Given the description of an element on the screen output the (x, y) to click on. 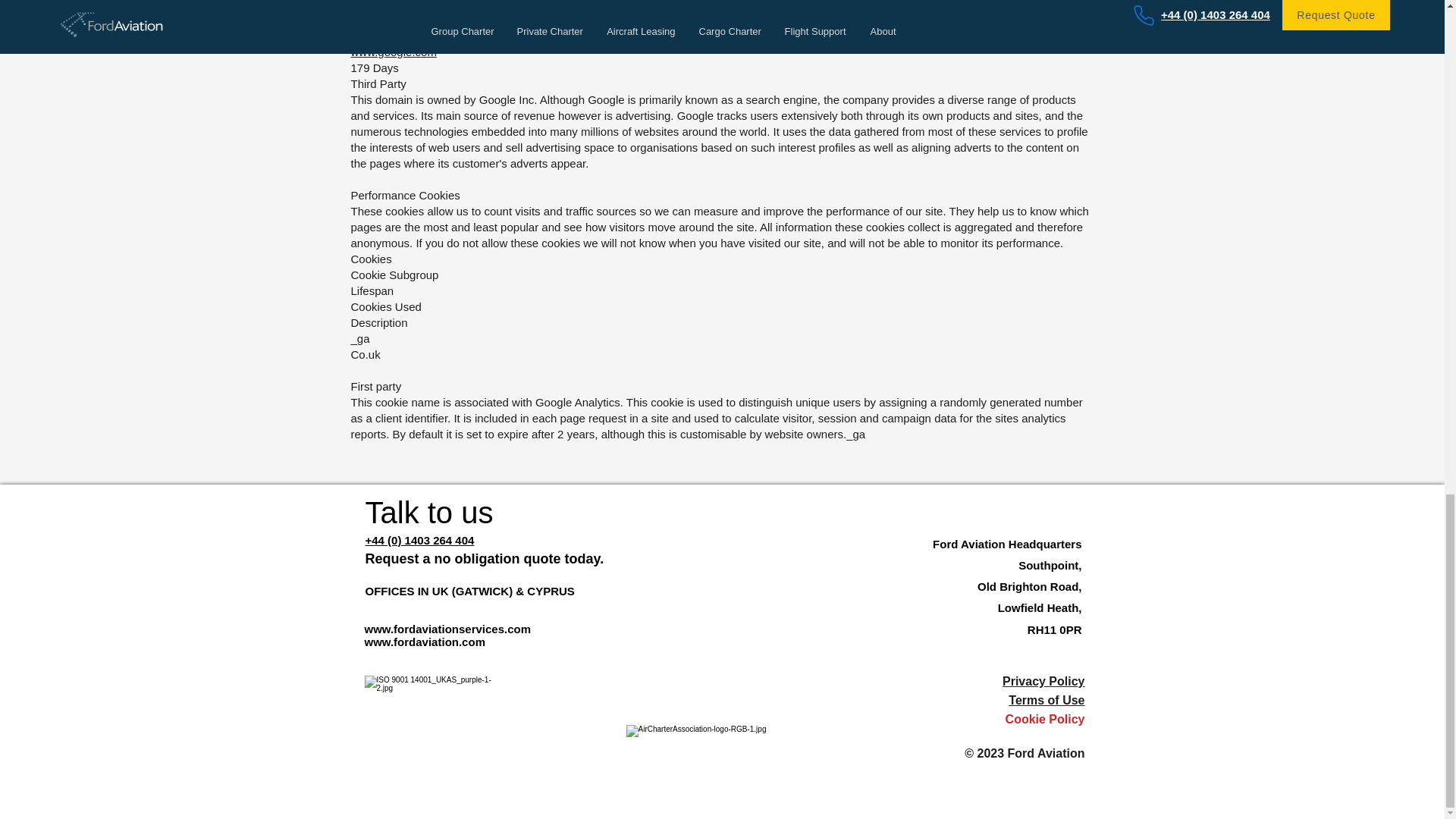
Terms of Use (1046, 699)
www.fordaviation.com (424, 641)
www.fordaviationservices.com (447, 628)
Privacy Policy (1043, 680)
www.google.com (392, 51)
